Given the description of an element on the screen output the (x, y) to click on. 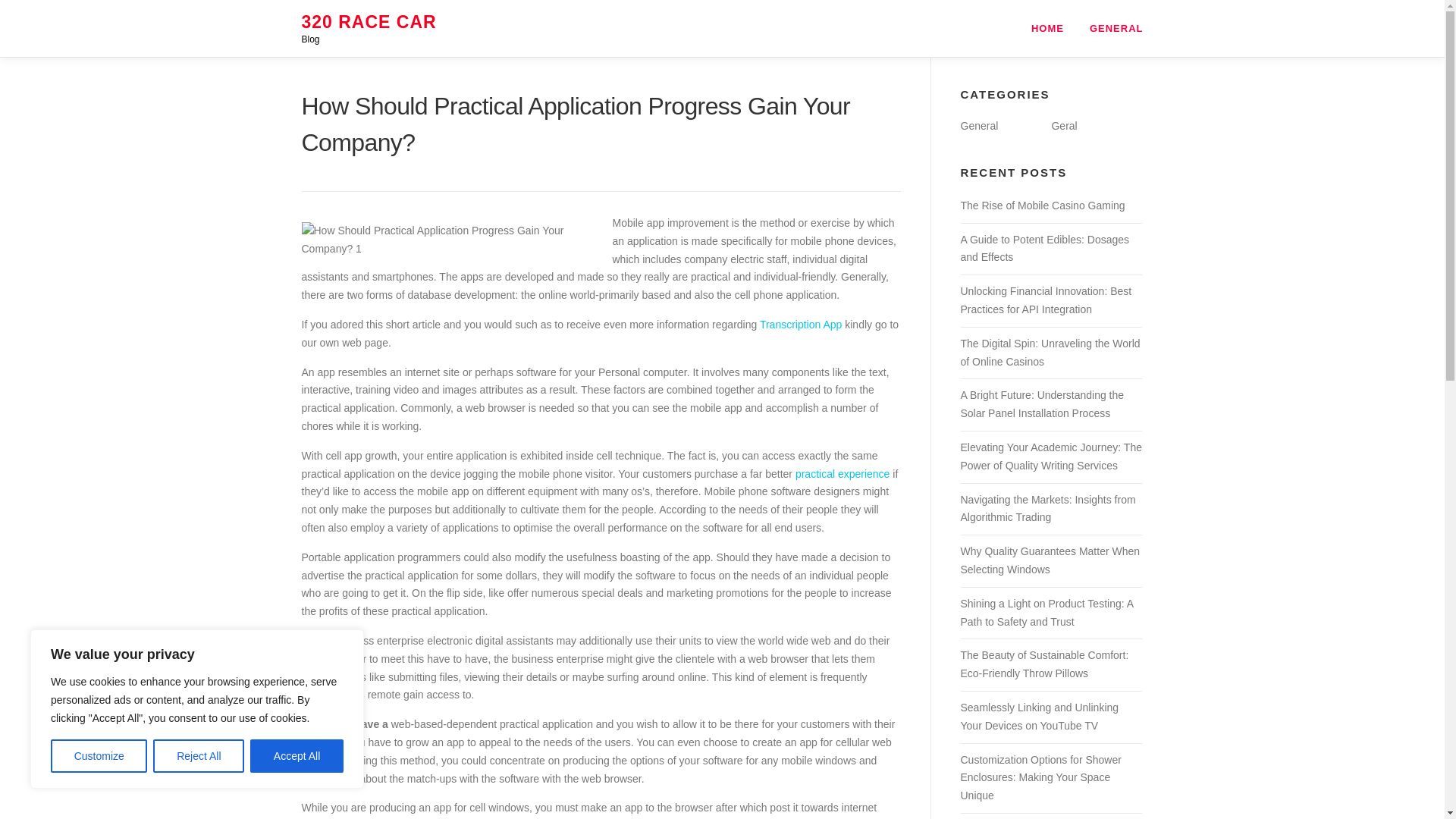
Reject All (198, 756)
A Guide to Potent Edibles: Dosages and Effects (1044, 248)
Navigating the Markets: Insights from Algorithmic Trading (1047, 508)
Why Quality Guarantees Matter When Selecting Windows (1049, 560)
Accept All (296, 756)
Customize (98, 756)
Geral (1064, 125)
HOME (1047, 28)
